Given the description of an element on the screen output the (x, y) to click on. 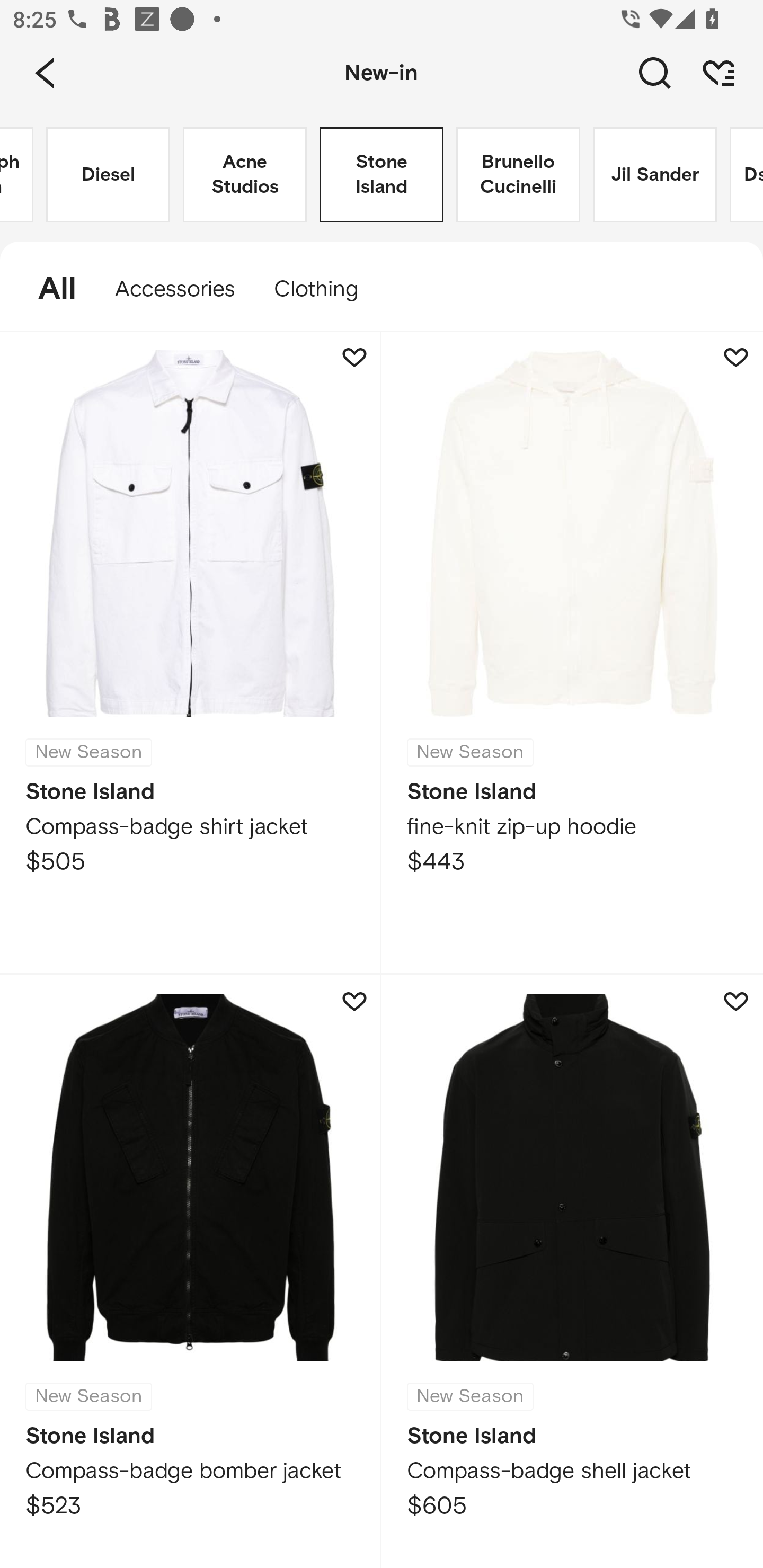
Diesel (107, 174)
Acne Studios (244, 174)
Stone Island (381, 174)
Brunello Cucinelli (517, 174)
Jil Sander (654, 174)
All (47, 288)
Accessories (174, 288)
Clothing (324, 288)
